Given the description of an element on the screen output the (x, y) to click on. 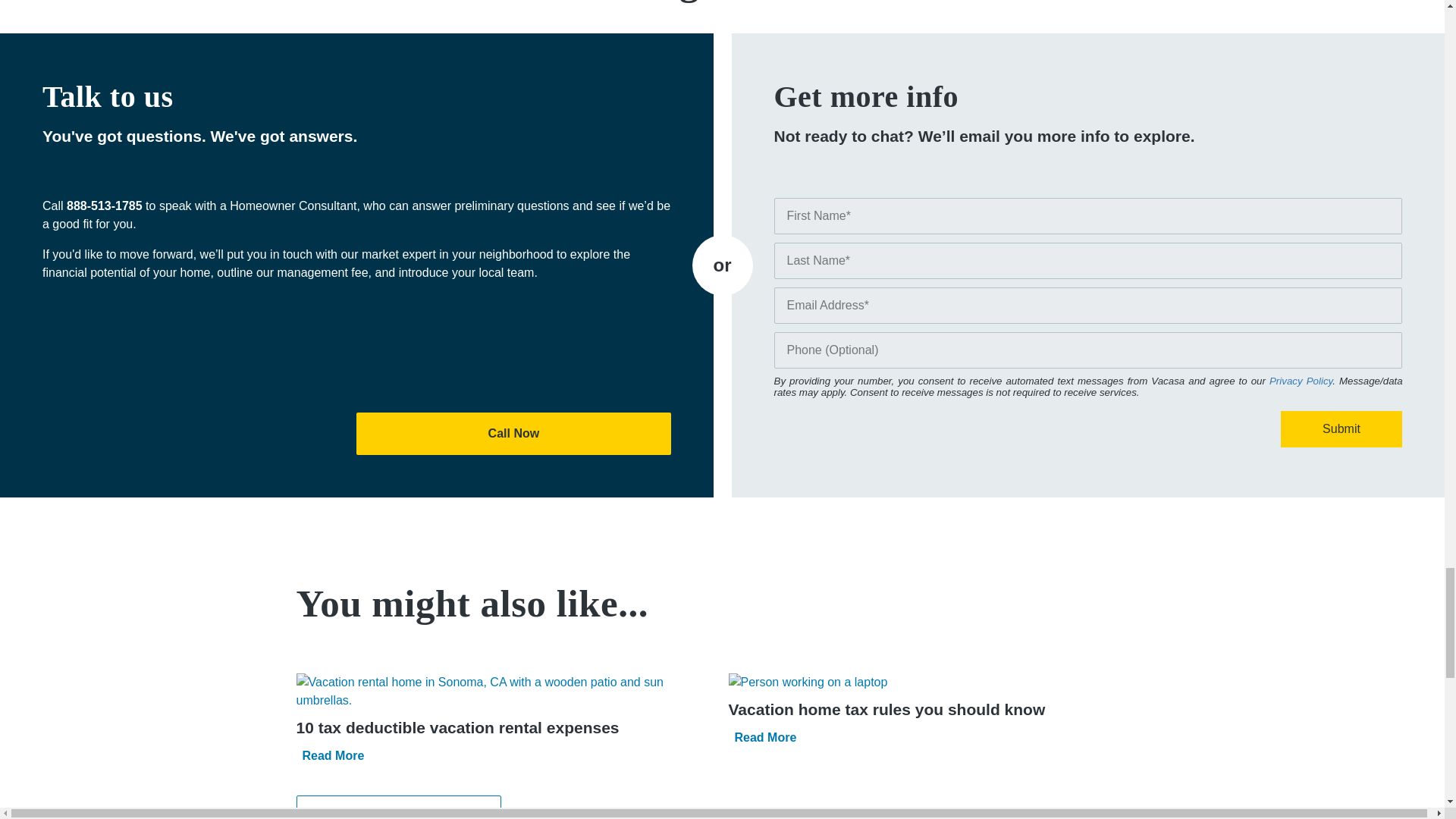
Browse All Homeowner Guides (397, 807)
Privacy Policy (1300, 380)
Read More (794, 737)
Read More (362, 755)
Submit (1341, 429)
Call Now (512, 433)
